Given the description of an element on the screen output the (x, y) to click on. 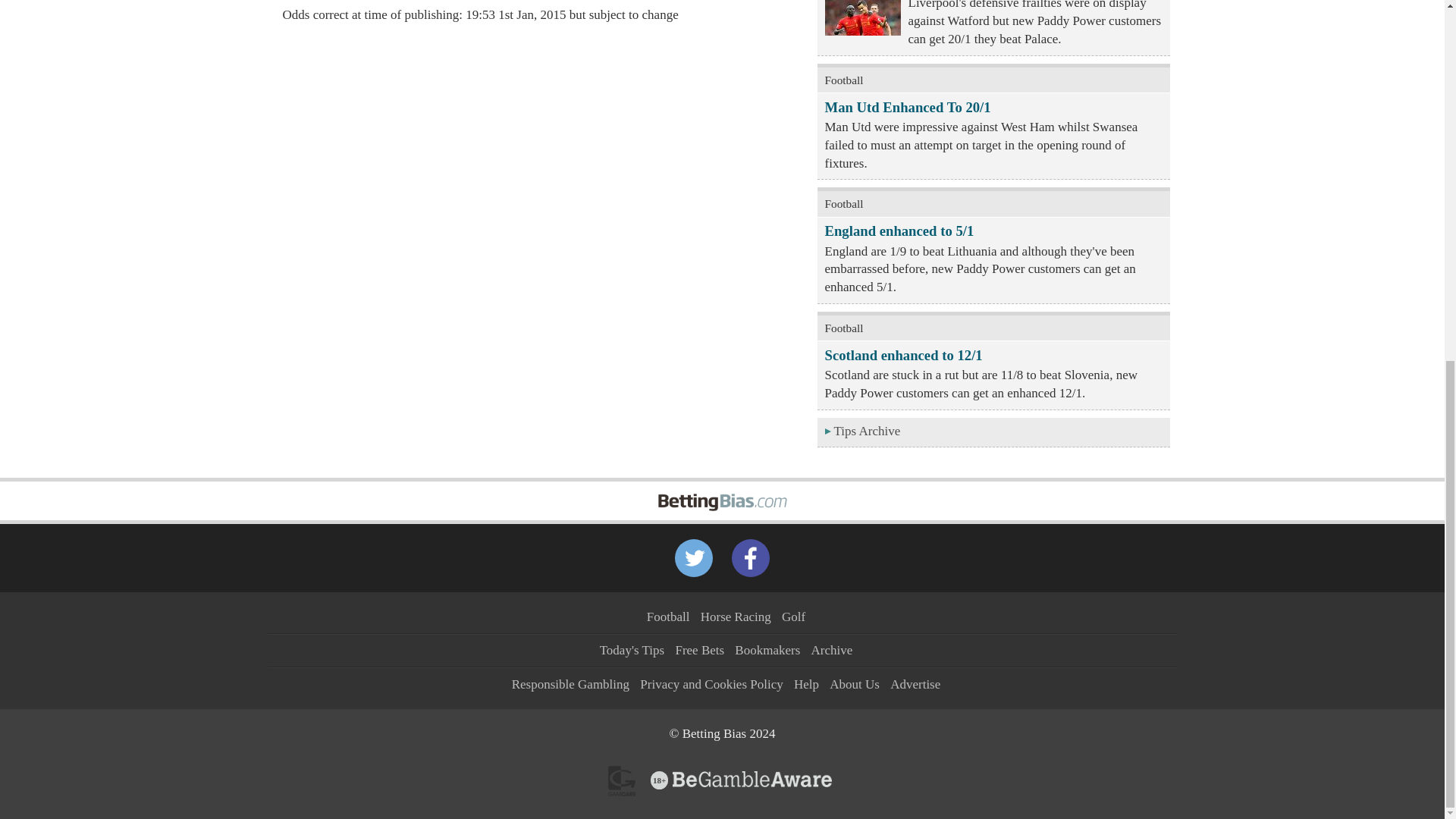
Today's Tips (632, 649)
Football (668, 616)
Archive (831, 649)
Twitter (694, 557)
Tips Archive (993, 432)
Bookmakers (767, 649)
Betting Bias (722, 490)
Free Bets (699, 649)
Golf (793, 616)
Horse Racing (735, 616)
GamCare (621, 780)
Facebook (751, 557)
